Given the description of an element on the screen output the (x, y) to click on. 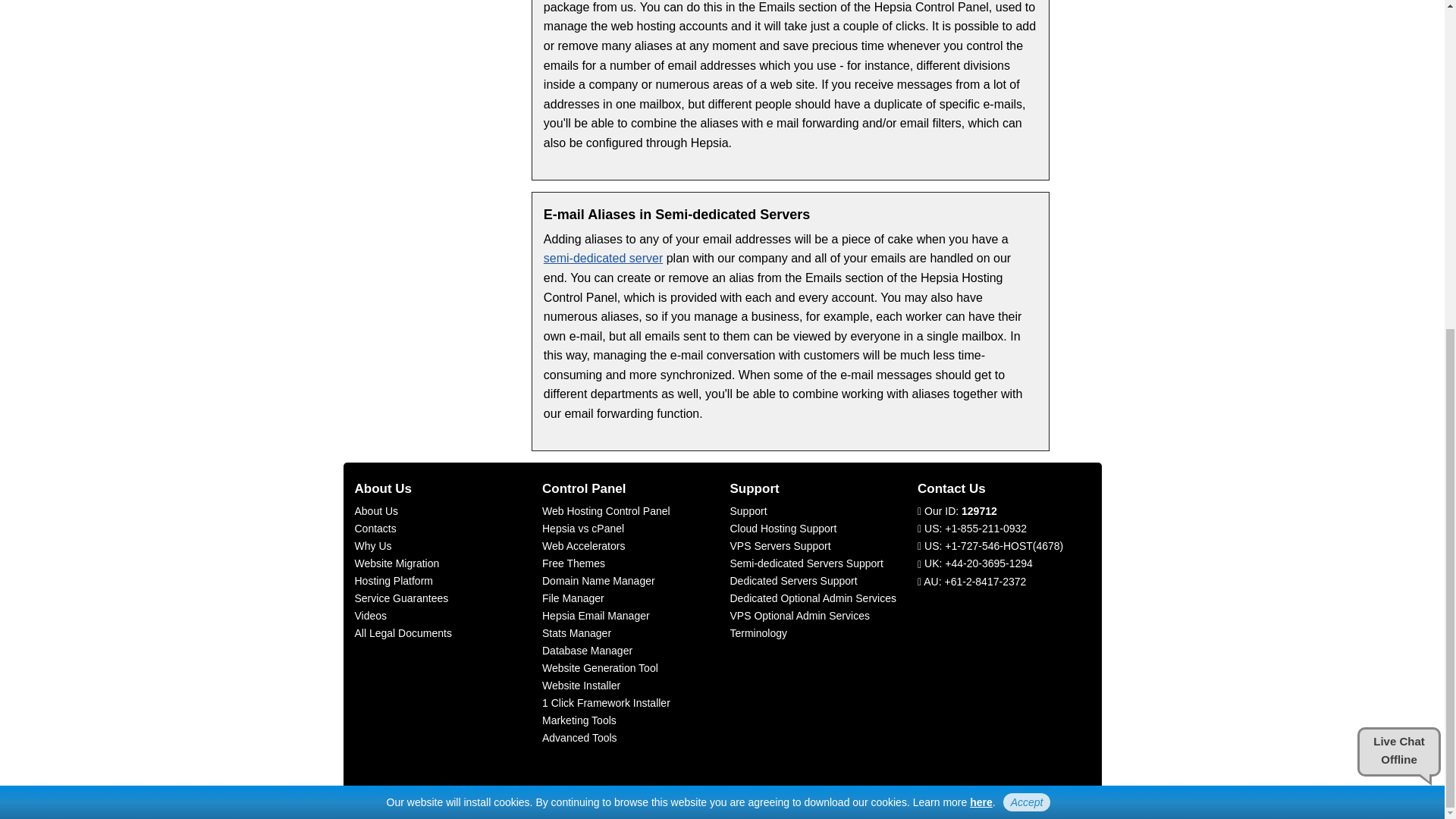
Live chat offline (1398, 208)
Privacy Policy (980, 259)
Linux semi-dedicated plans (602, 257)
